Given the description of an element on the screen output the (x, y) to click on. 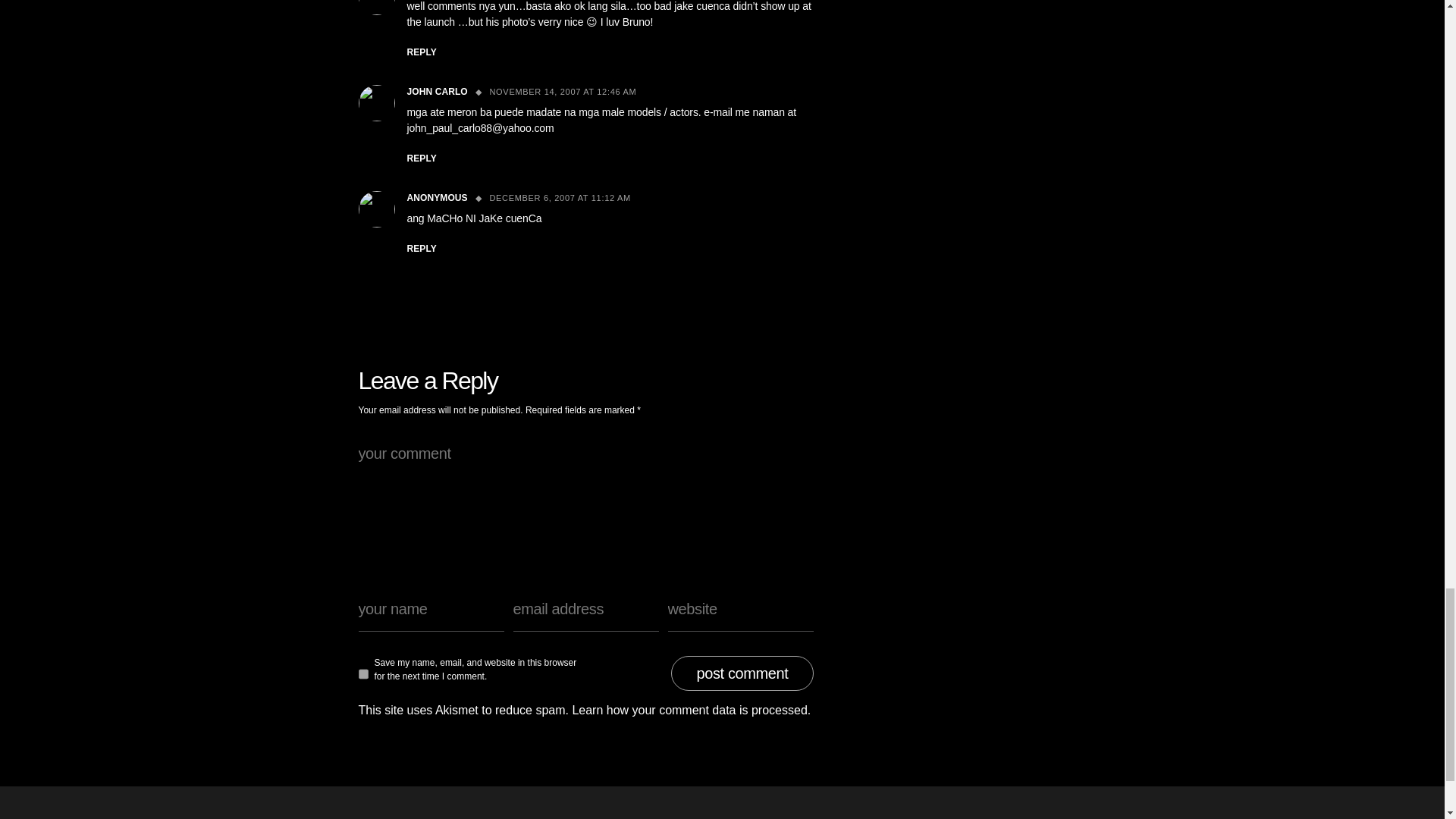
Post Comment (741, 673)
